Given the description of an element on the screen output the (x, y) to click on. 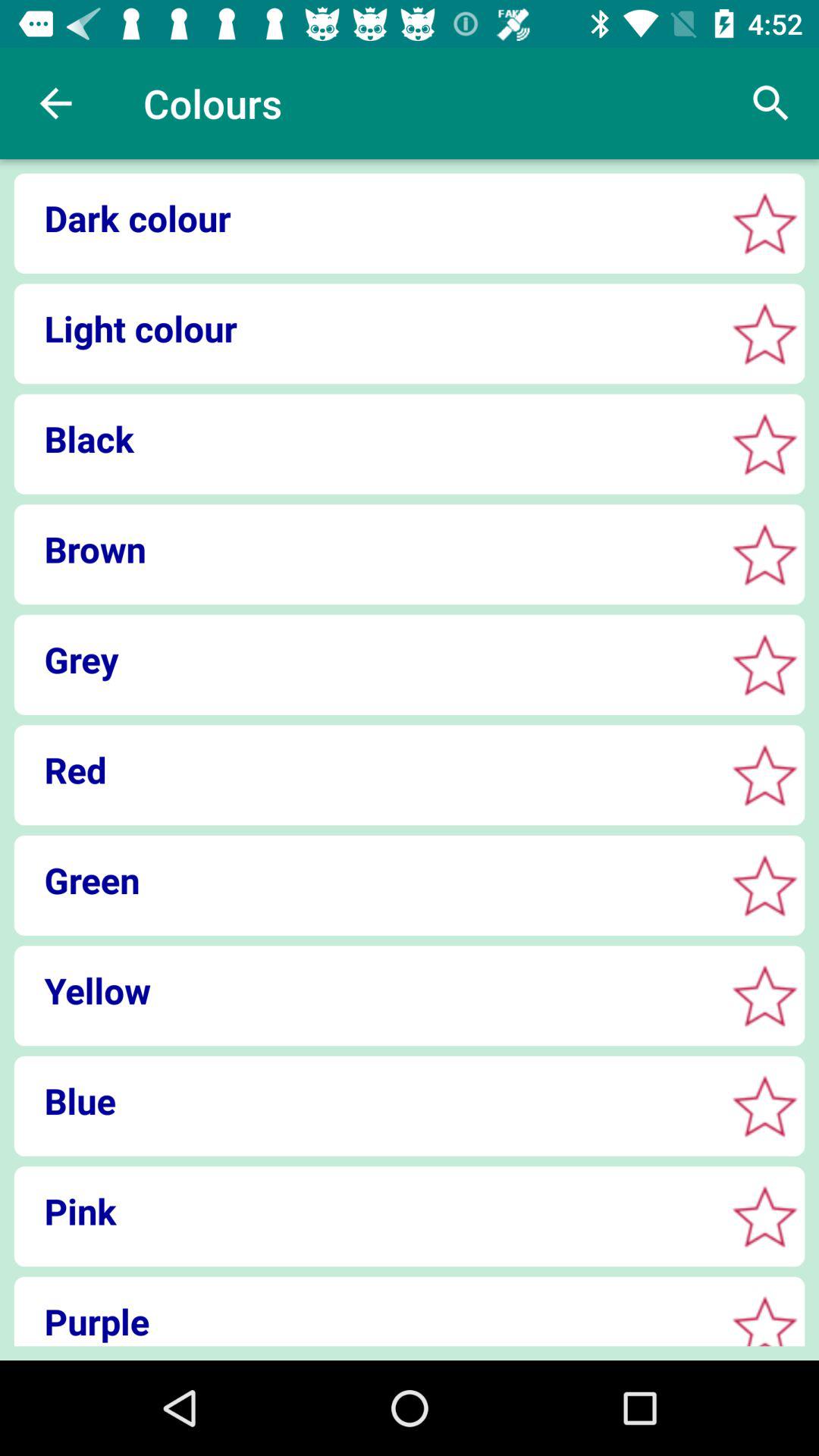
select color option (764, 444)
